Given the description of an element on the screen output the (x, y) to click on. 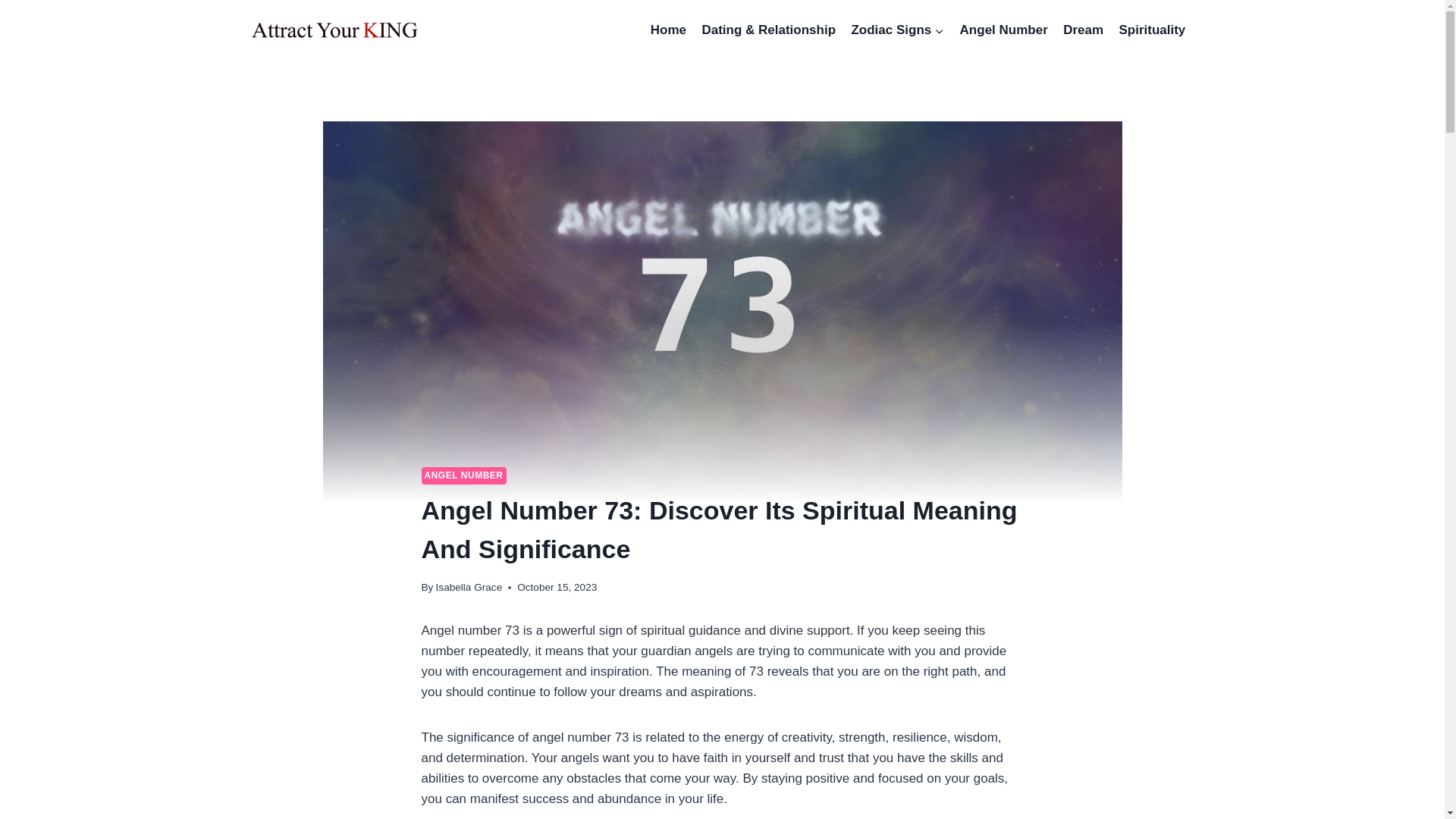
ANGEL NUMBER (464, 475)
Home (668, 30)
Dream (1082, 30)
Isabella Grace (468, 586)
Angel Number (1003, 30)
Zodiac Signs (897, 30)
Spirituality (1151, 30)
